Given the description of an element on the screen output the (x, y) to click on. 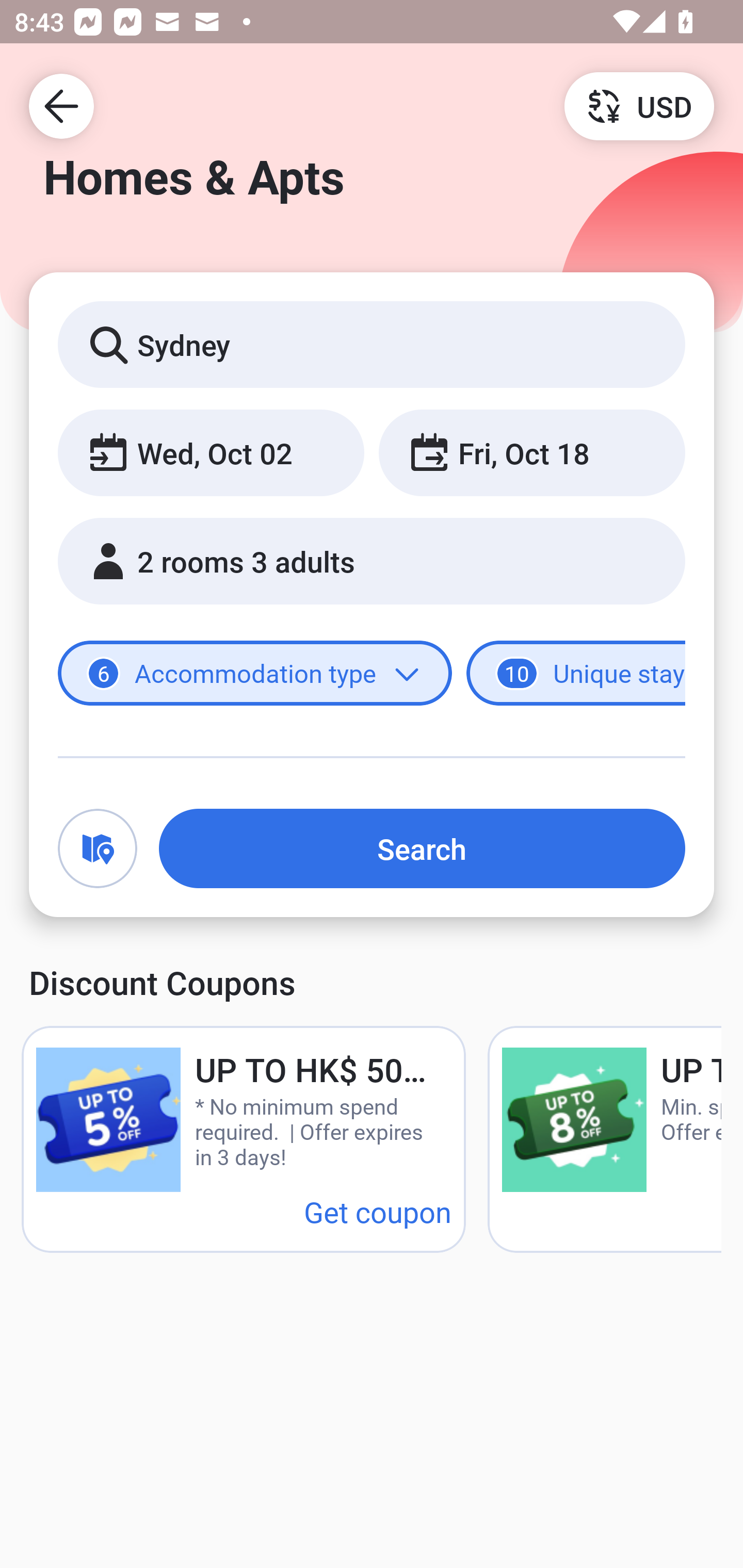
USD (639, 105)
Sydney (371, 344)
Wed, Oct 02 (210, 452)
Fri, Oct 18 (531, 452)
2 rooms 3 adults (371, 561)
6 Accommodation type (254, 673)
10 Unique stays (575, 673)
Search (422, 848)
Get coupon (377, 1211)
